Given the description of an element on the screen output the (x, y) to click on. 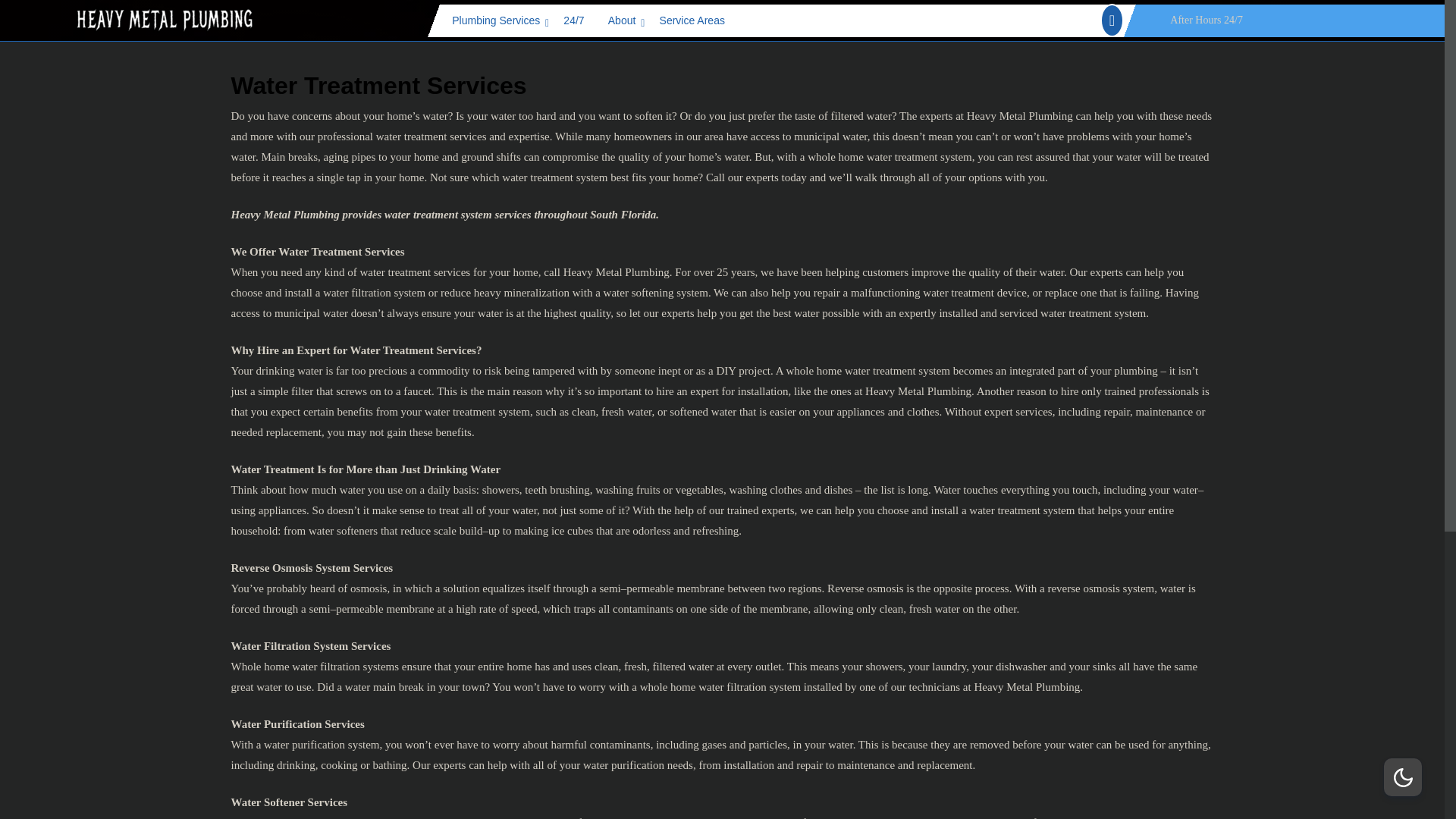
Plumbing Services (496, 20)
About (622, 20)
Service Areas (693, 20)
